Given the description of an element on the screen output the (x, y) to click on. 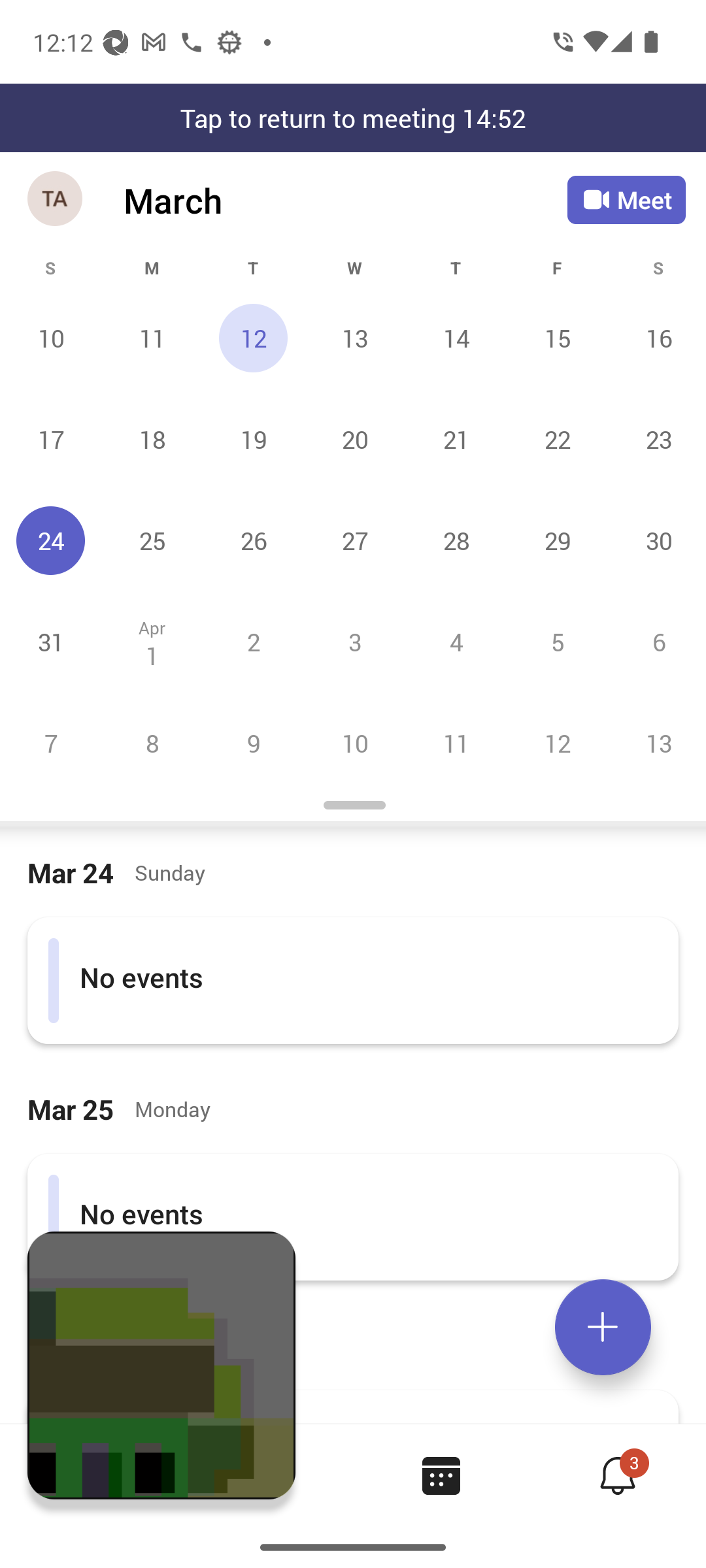
Tap to return to meeting 14:52 (353, 117)
Navigation (56, 199)
Meet Meet now or join with an ID (626, 199)
March March Calendar Agenda View (345, 199)
Sunday, March 10 10 (50, 337)
Monday, March 11 11 (151, 337)
Tuesday, March 12, Today 12 (253, 337)
Wednesday, March 13 13 (354, 337)
Thursday, March 14 14 (455, 337)
Friday, March 15 15 (556, 337)
Saturday, March 16 16 (656, 337)
Sunday, March 17 17 (50, 438)
Monday, March 18 18 (151, 438)
Tuesday, March 19 19 (253, 438)
Wednesday, March 20 20 (354, 438)
Thursday, March 21 21 (455, 438)
Friday, March 22 22 (556, 438)
Saturday, March 23 23 (656, 438)
Sunday, March 24, Selected 24 (50, 540)
Monday, March 25 25 (151, 540)
Tuesday, March 26 26 (253, 540)
Wednesday, March 27 27 (354, 540)
Thursday, March 28 28 (455, 540)
Friday, March 29 29 (556, 540)
Saturday, March 30 30 (656, 540)
Sunday, March 31 31 (50, 642)
Monday, April 1 Apr 1 (151, 642)
Tuesday, April 2 2 (253, 642)
Wednesday, April 3 3 (354, 642)
Thursday, April 4 4 (455, 642)
Friday, April 5 5 (556, 642)
Saturday, April 6 6 (656, 642)
Sunday, April 7 7 (50, 743)
Monday, April 8 8 (151, 743)
Tuesday, April 9 9 (253, 743)
Wednesday, April 10 10 (354, 743)
Thursday, April 11 11 (455, 743)
Friday, April 12 12 (556, 743)
Saturday, April 13 13 (656, 743)
Expand meetings menu (602, 1327)
Calendar tab, 3 of 4 (441, 1475)
Activity tab,4 of 4, not selected, 3 new 3 (617, 1475)
